Given the description of an element on the screen output the (x, y) to click on. 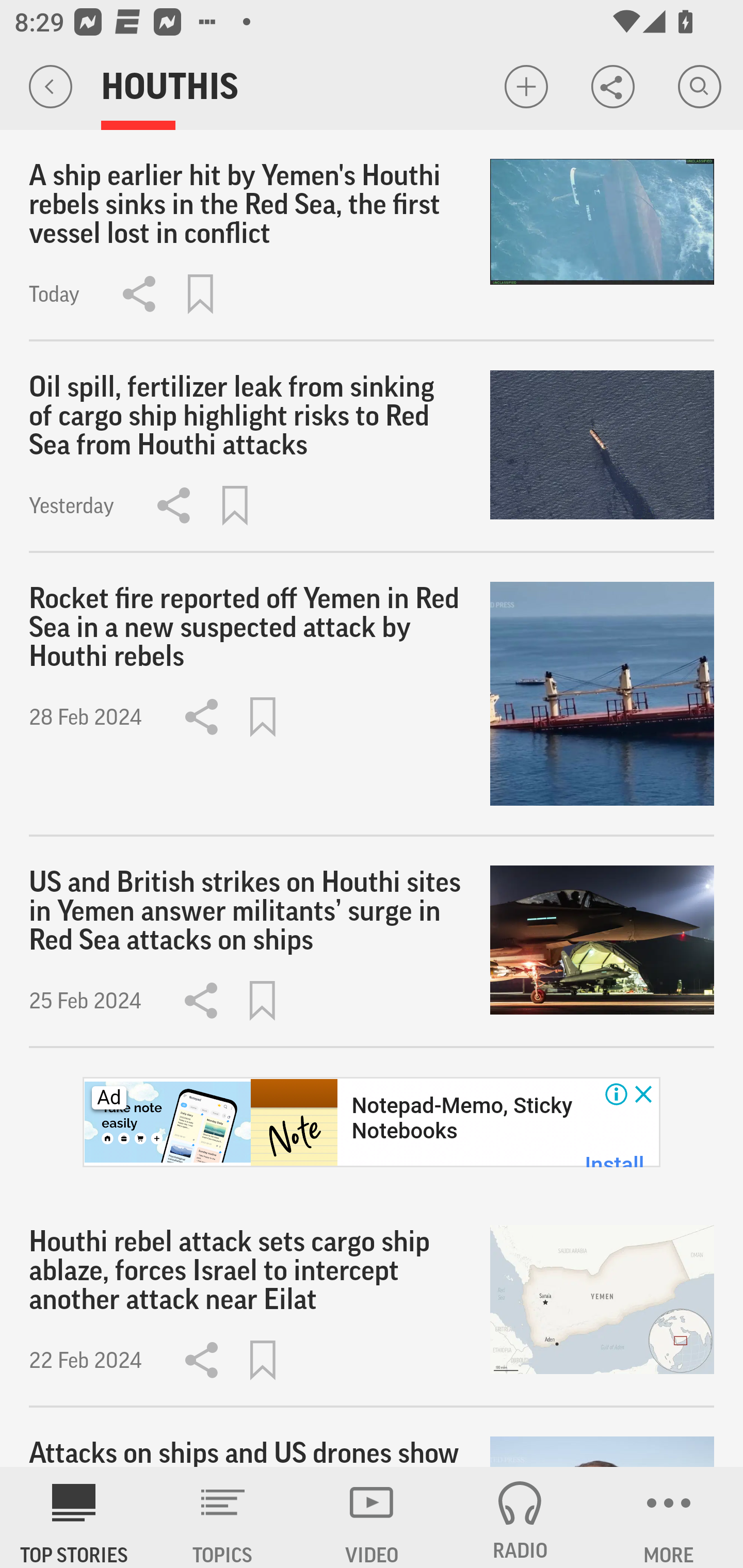
Notepad-Memo, Sticky Notebooks (461, 1118)
AP News TOP STORIES (74, 1517)
TOPICS (222, 1517)
VIDEO (371, 1517)
RADIO (519, 1517)
MORE (668, 1517)
